Given the description of an element on the screen output the (x, y) to click on. 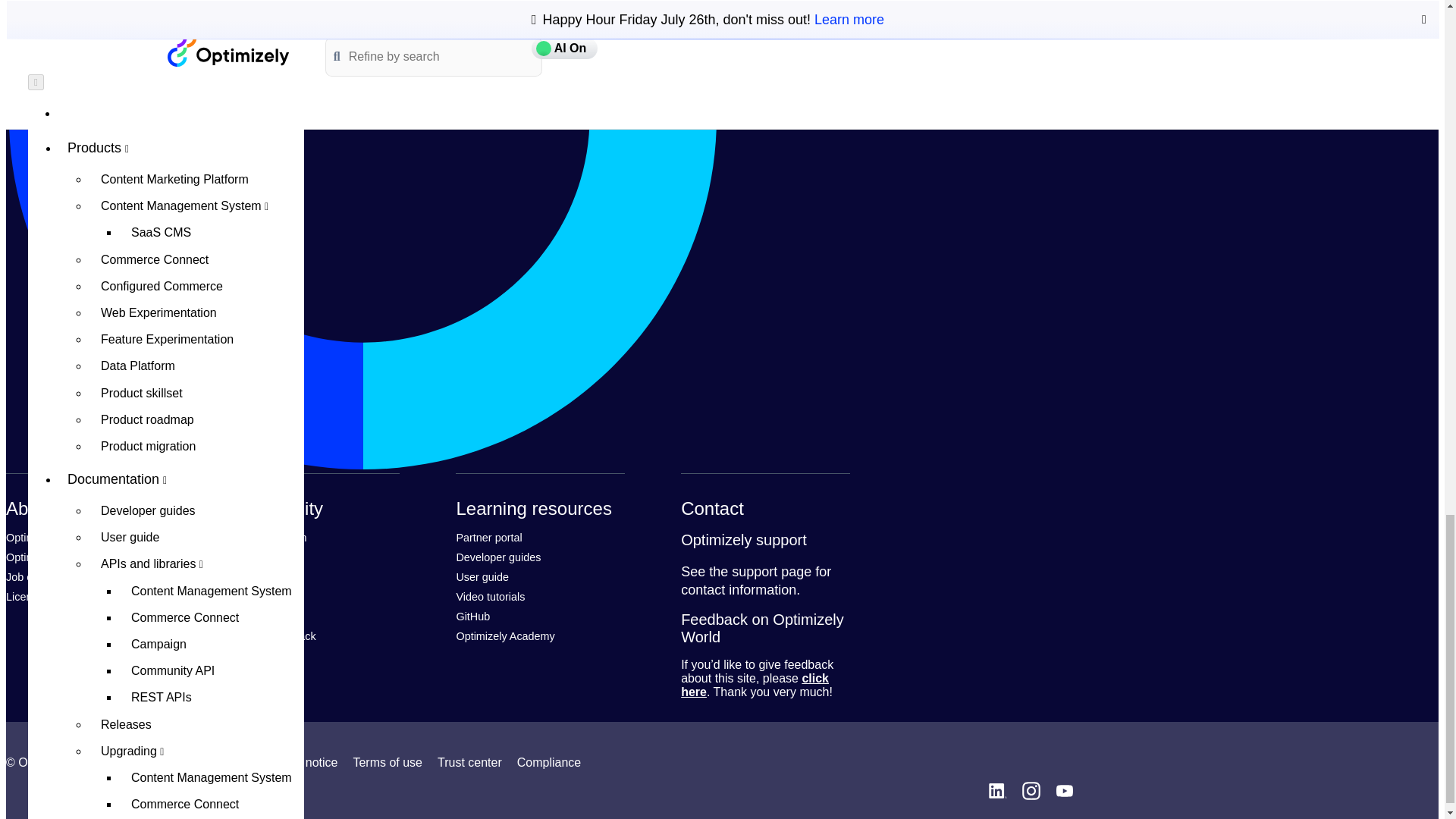
Developer guides (497, 557)
Blogs (245, 596)
OMVP program (269, 537)
Optimizely User Guide (481, 576)
episerver.com (42, 537)
Forums (249, 576)
Optimizely Certification (60, 557)
Optimizely Partner Portal (488, 537)
Job openings (38, 576)
Slack (244, 616)
